Given the description of an element on the screen output the (x, y) to click on. 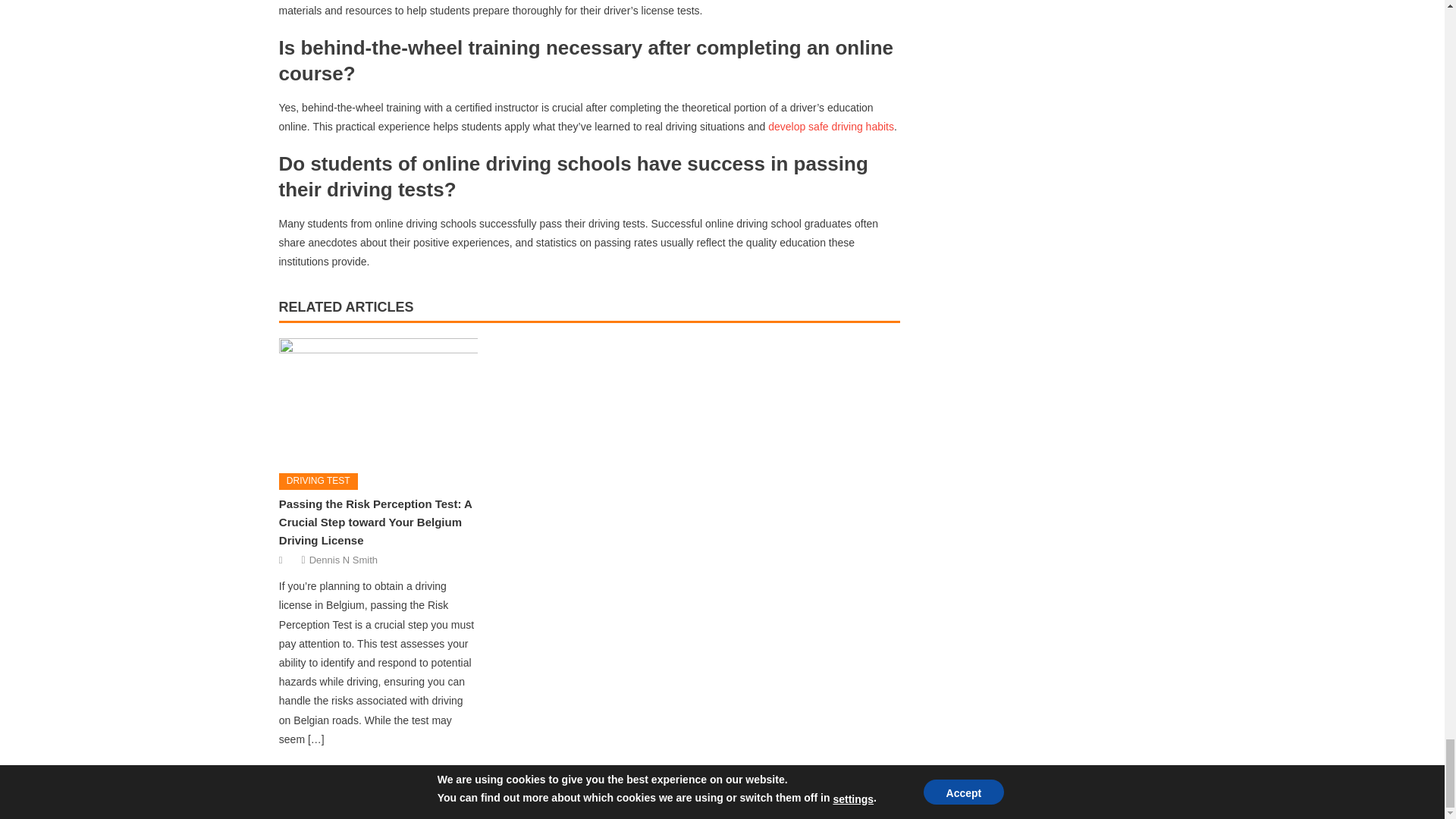
Car Tinting Laws by State: Know the Rules (356, 776)
Dennis N Smith (342, 559)
develop safe driving habits (830, 126)
Essential Tips to Find the Best RV Parts Easily (821, 776)
DRIVING TEST (318, 481)
